Given the description of an element on the screen output the (x, y) to click on. 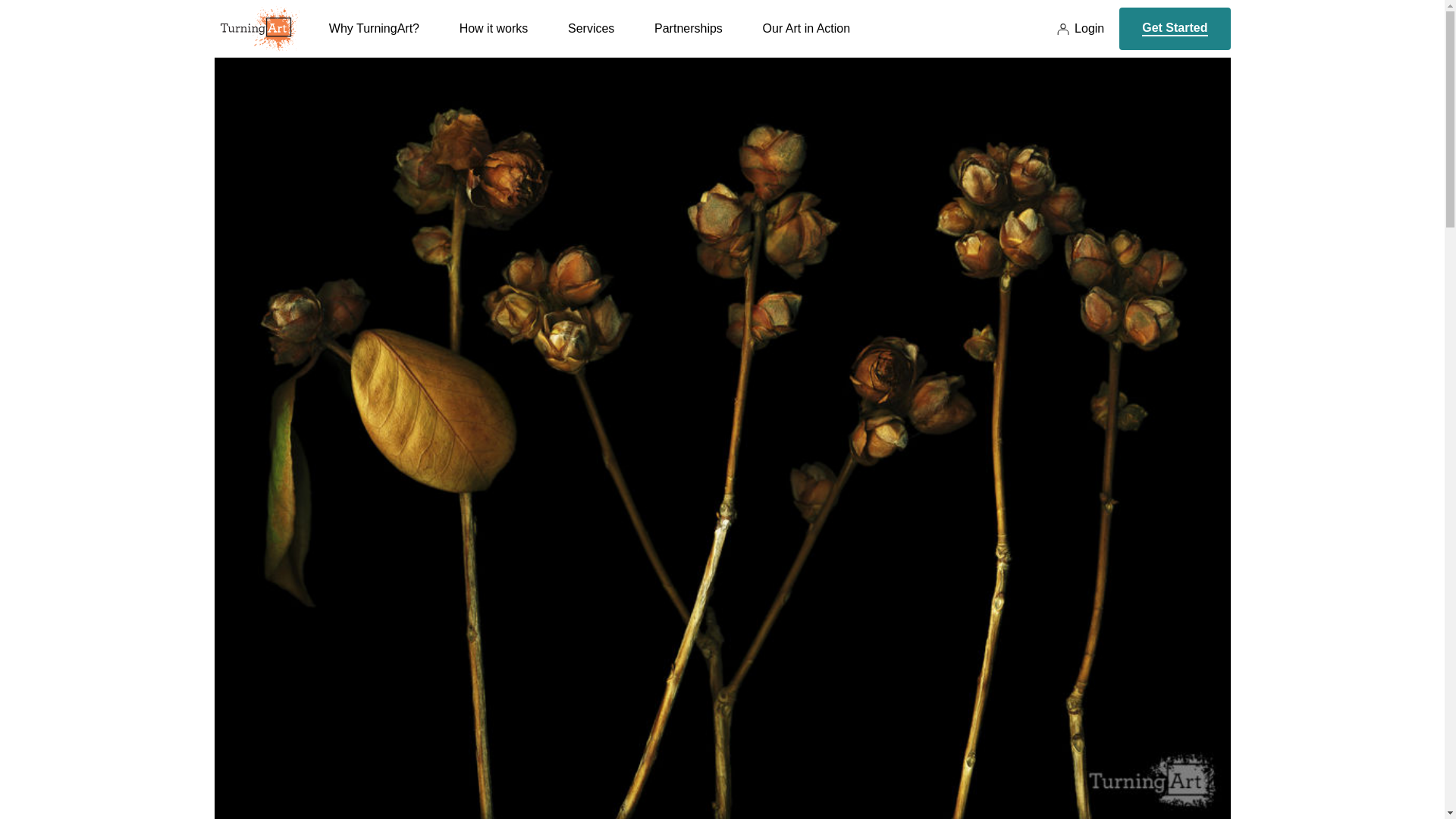
Get Started (1174, 28)
Why TurningArt? (374, 38)
How it works (494, 38)
Our Art in Action (806, 38)
Partnerships (687, 38)
Services (590, 38)
Login (1080, 28)
